Given the description of an element on the screen output the (x, y) to click on. 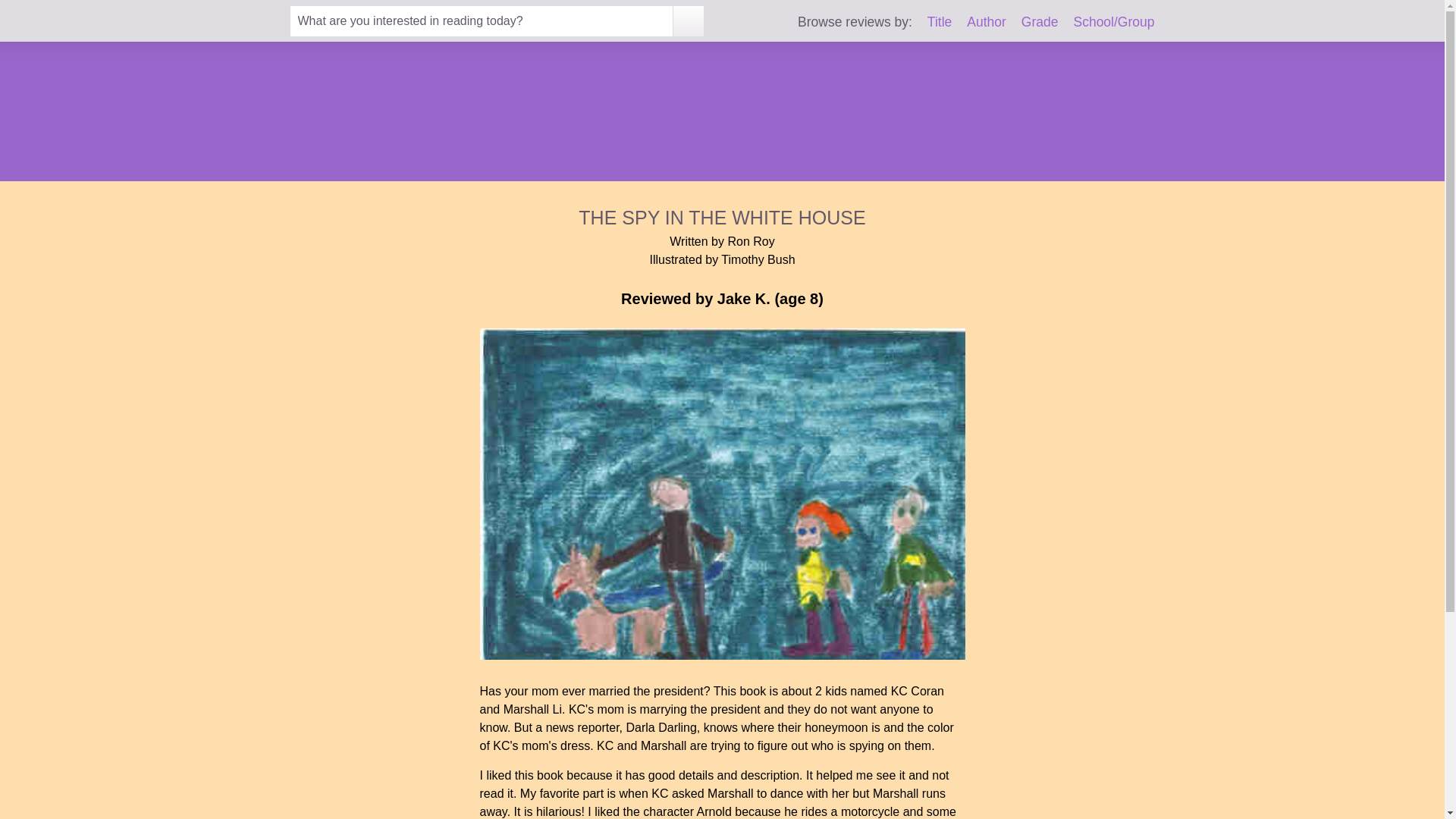
Grade (1040, 21)
Title (939, 21)
Author (986, 21)
